Given the description of an element on the screen output the (x, y) to click on. 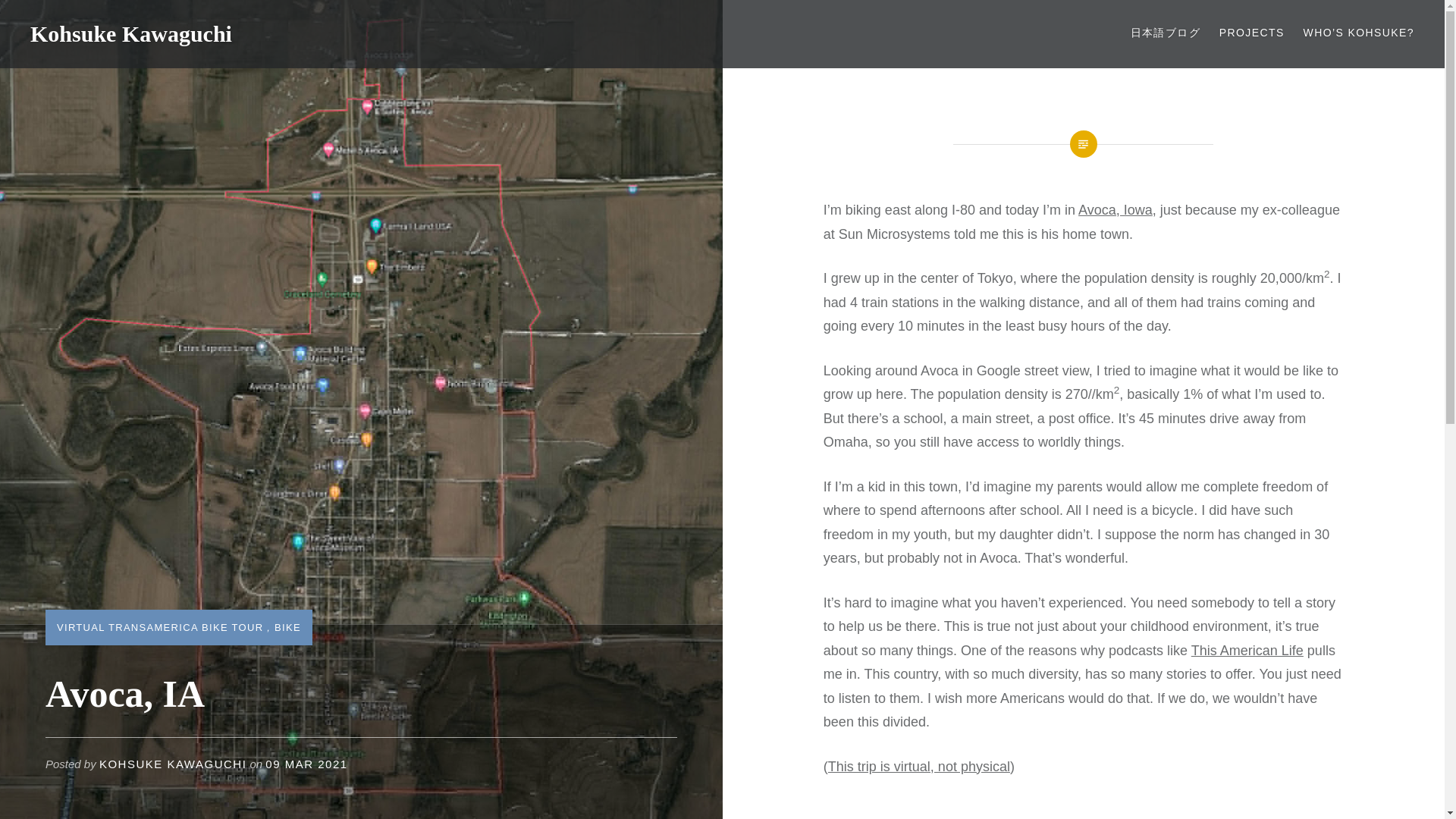
This American Life (1247, 650)
Avoca, Iowa (1115, 209)
Kohsuke Kawaguchi (130, 33)
VIRTUAL TRANSAMERICA BIKE TOUR (159, 627)
09 MAR 2021 (305, 763)
PROJECTS (1252, 32)
BIKE (288, 627)
KOHSUKE KAWAGUCHI (172, 763)
This trip is virtual, not physical (919, 765)
